Given the description of an element on the screen output the (x, y) to click on. 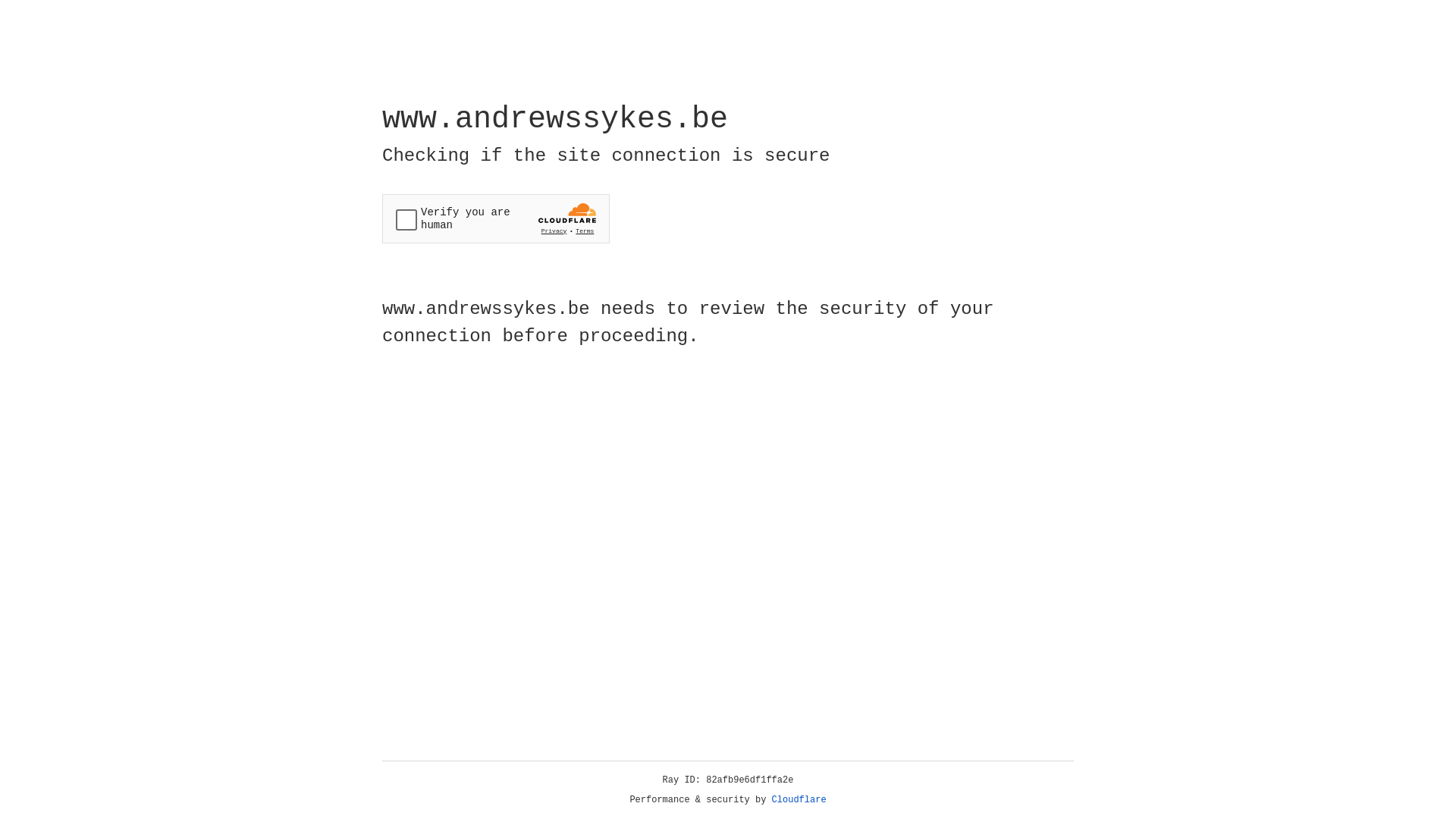
Cloudflare Element type: text (798, 799)
Widget containing a Cloudflare security challenge Element type: hover (495, 218)
